Given the description of an element on the screen output the (x, y) to click on. 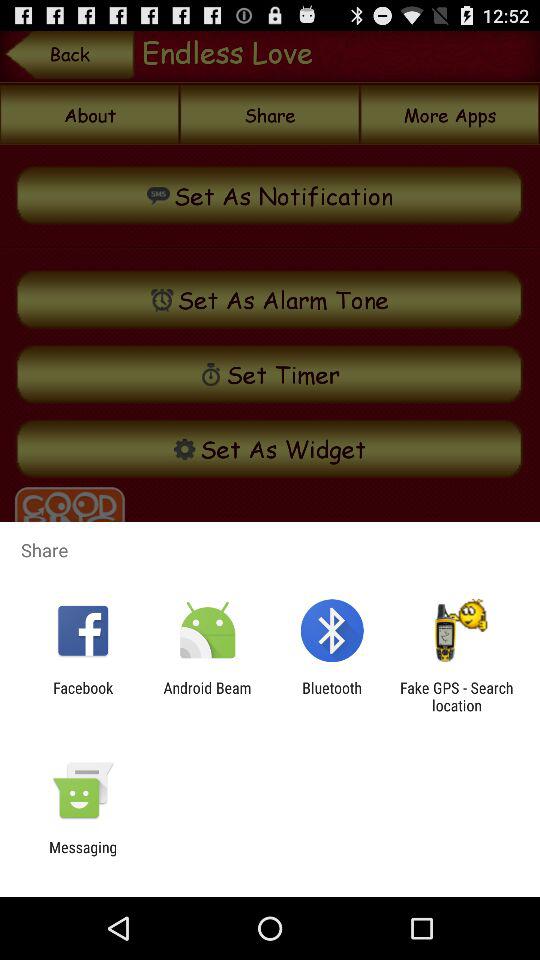
turn on the item next to android beam icon (83, 696)
